Given the description of an element on the screen output the (x, y) to click on. 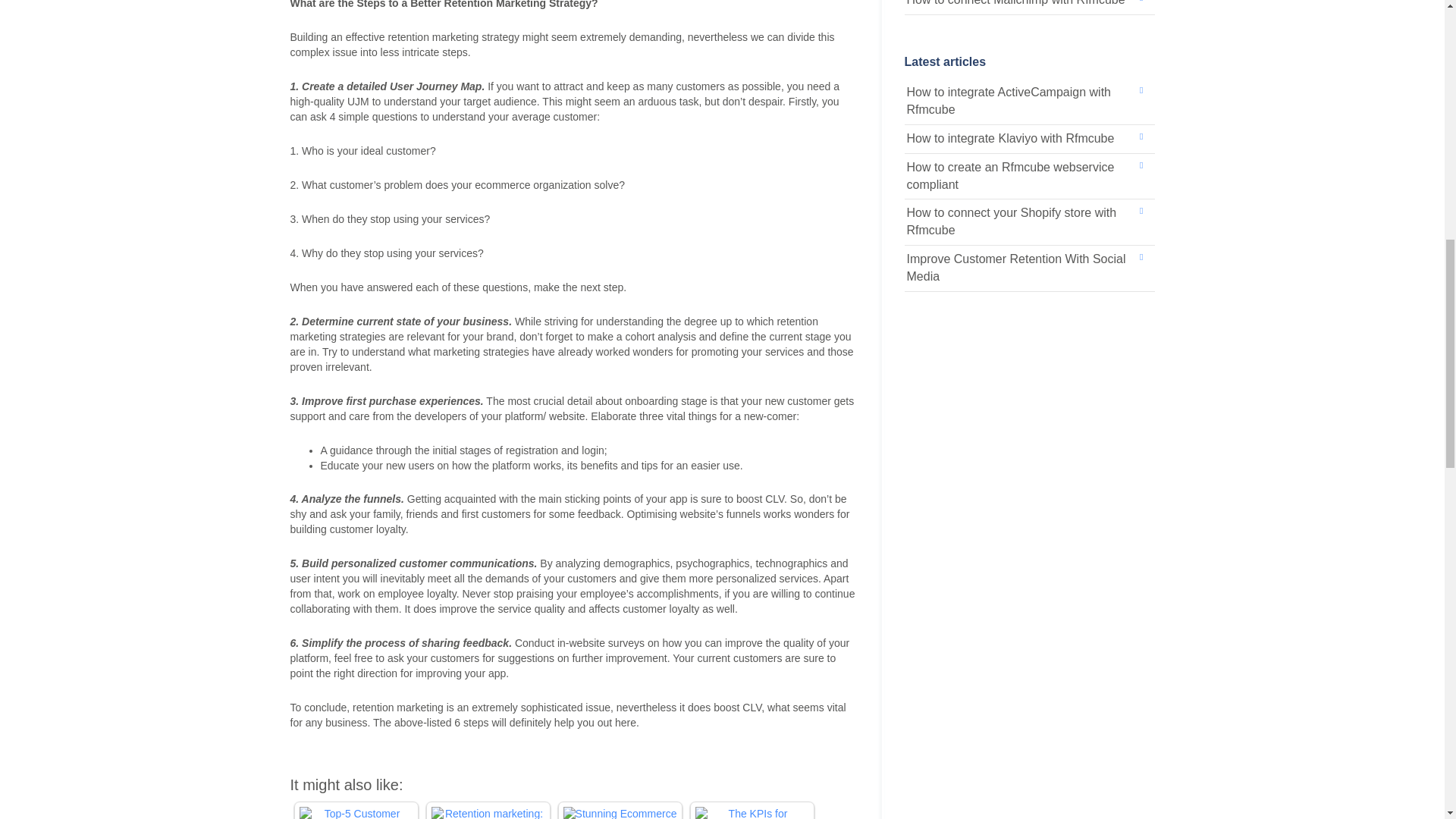
The KPIs for customer retention (751, 812)
Top-5 Customer Retention Tips for Amazon Sellers (355, 812)
Top-5 Customer Retention Tips for Amazon Sellers (355, 812)
Retention marketing: your loyalty system and customer love (487, 812)
The KPIs for customer retention (751, 812)
Retention marketing: your loyalty system and customer love (487, 812)
